Given the description of an element on the screen output the (x, y) to click on. 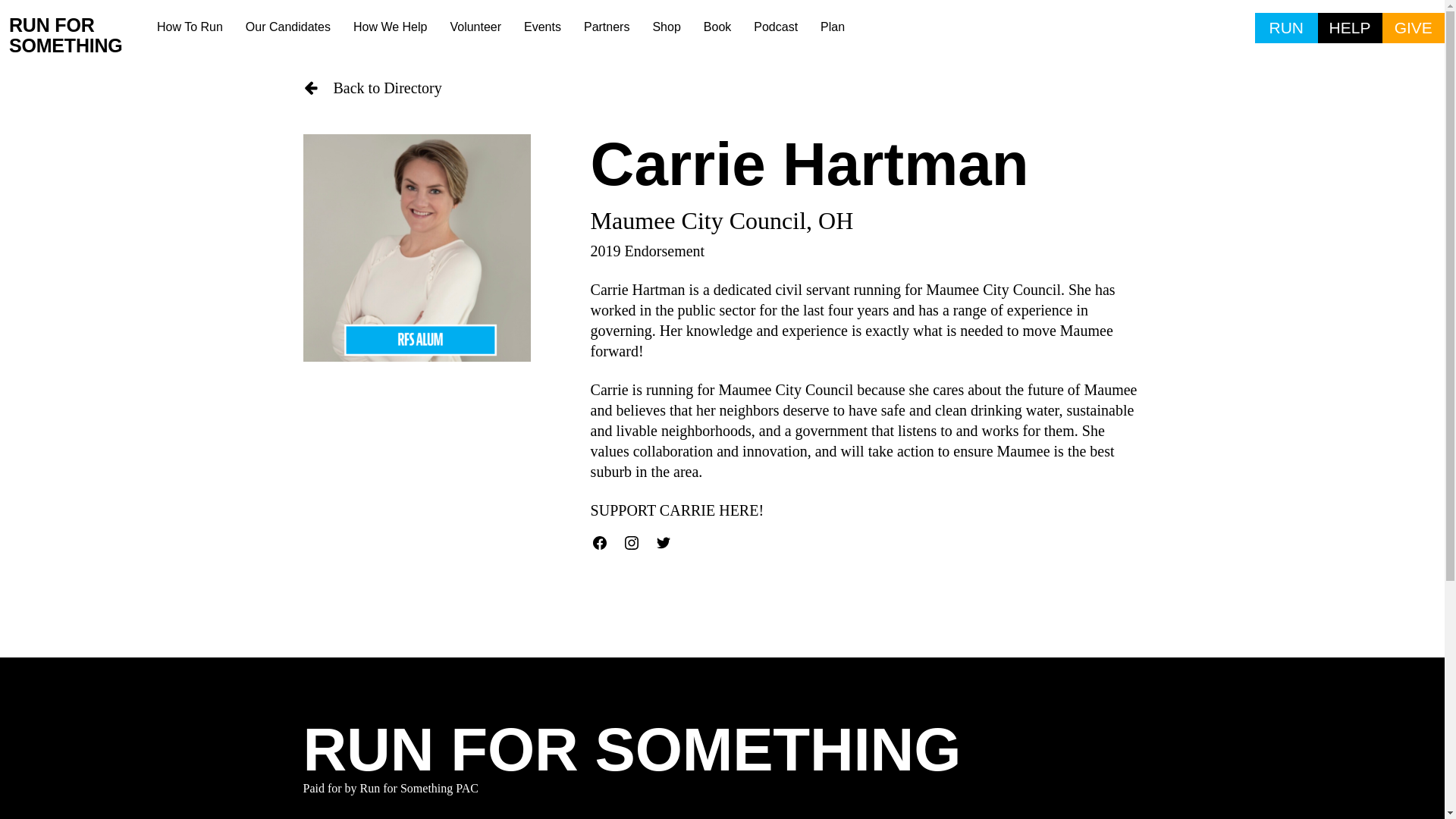
How To Run (189, 27)
Back to Directory (721, 87)
RUN FOR SOMETHING (76, 35)
HELP (1349, 28)
How We Help (390, 27)
Partners (606, 27)
Podcast (775, 27)
Shop (665, 27)
Our Candidates (288, 27)
RUN (1286, 28)
Events (542, 27)
Book (717, 27)
RUN FOR SOMETHING (631, 749)
Plan (832, 27)
Volunteer (475, 27)
